Given the description of an element on the screen output the (x, y) to click on. 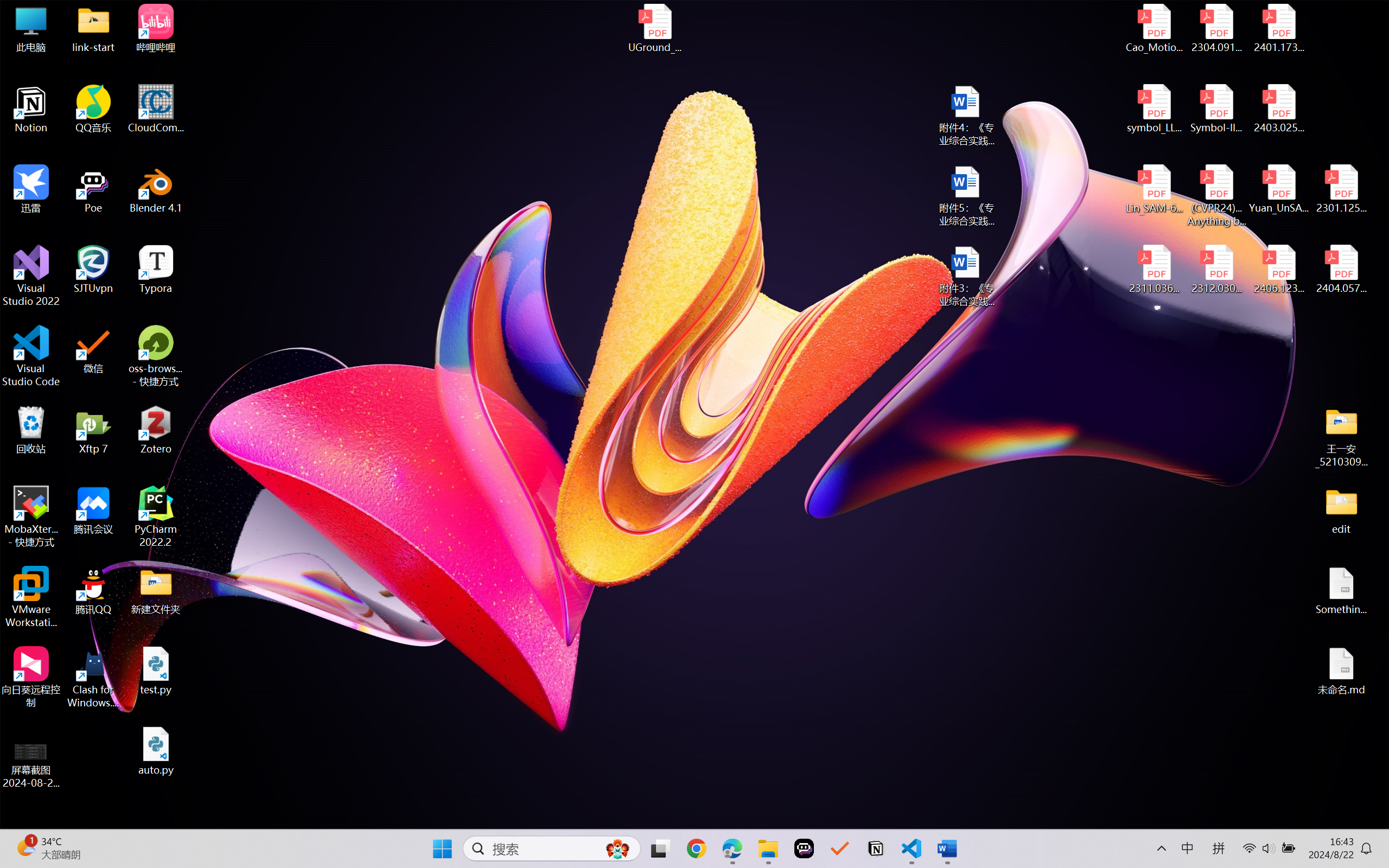
Symbol-llm-v2.pdf (1216, 109)
(CVPR24)Matching Anything by Segmenting Anything.pdf (1216, 195)
Typora (156, 269)
2312.03032v2.pdf (1216, 269)
auto.py (156, 751)
